Given the description of an element on the screen output the (x, y) to click on. 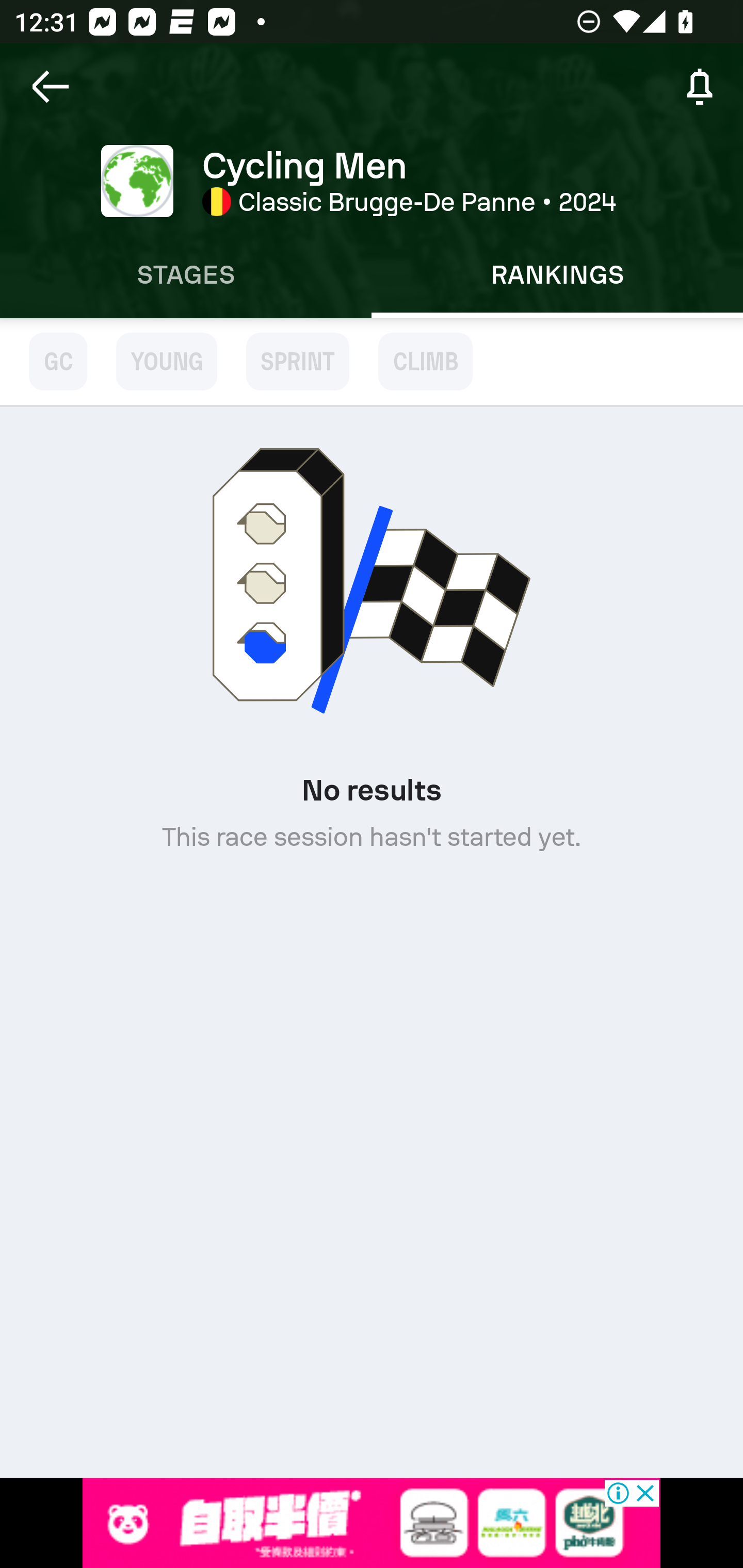
Navigate up (50, 86)
Stages STAGES (185, 275)
Advertisement (371, 1522)
